Given the description of an element on the screen output the (x, y) to click on. 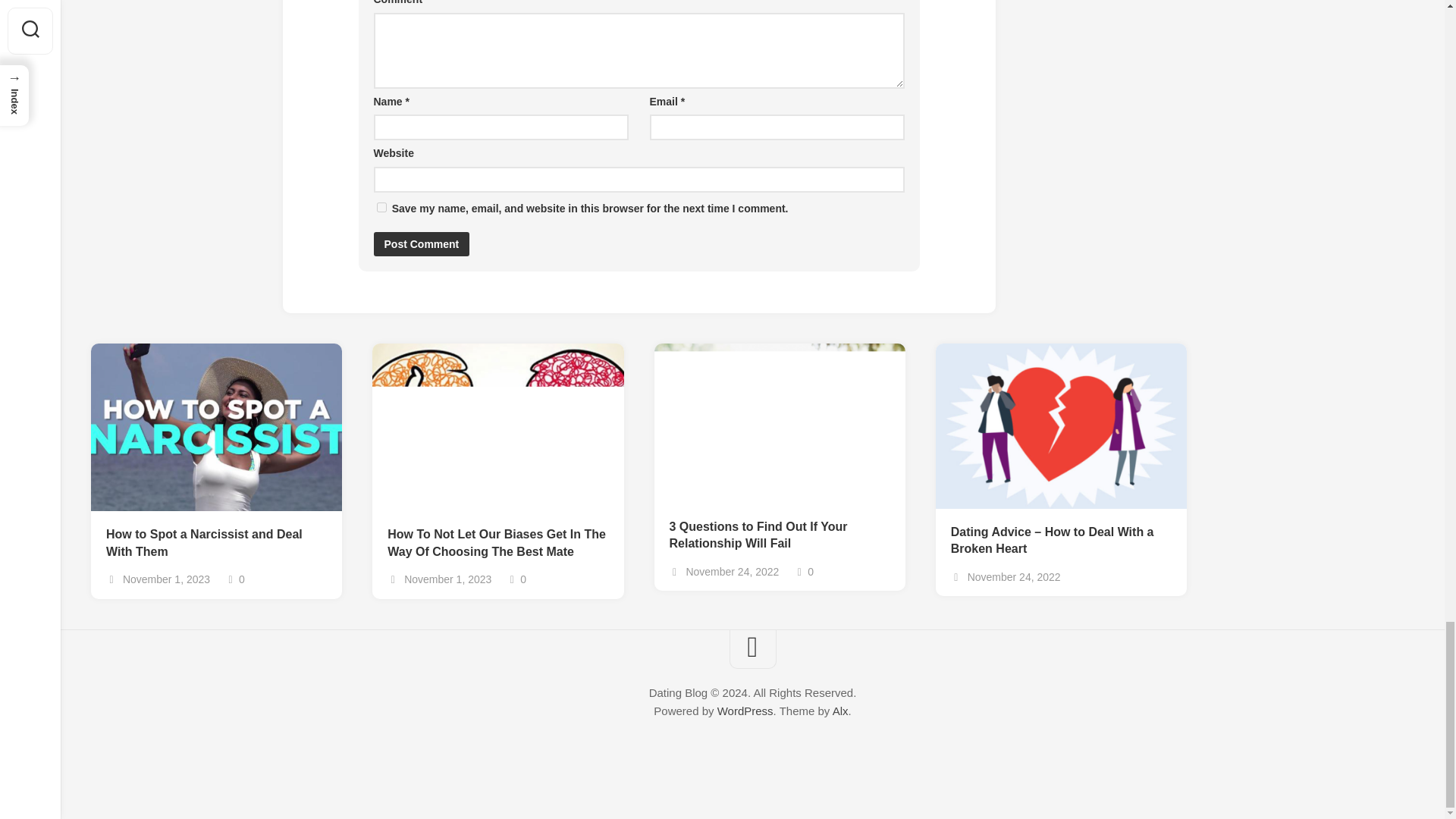
0 (234, 579)
3 Questions to Find Out If Your Relationship Will Fail (778, 535)
Post Comment (420, 243)
yes (380, 207)
0 (515, 579)
0 (803, 571)
Post Comment (420, 243)
How to Spot a Narcissist and Deal With Them (216, 543)
